Given the description of an element on the screen output the (x, y) to click on. 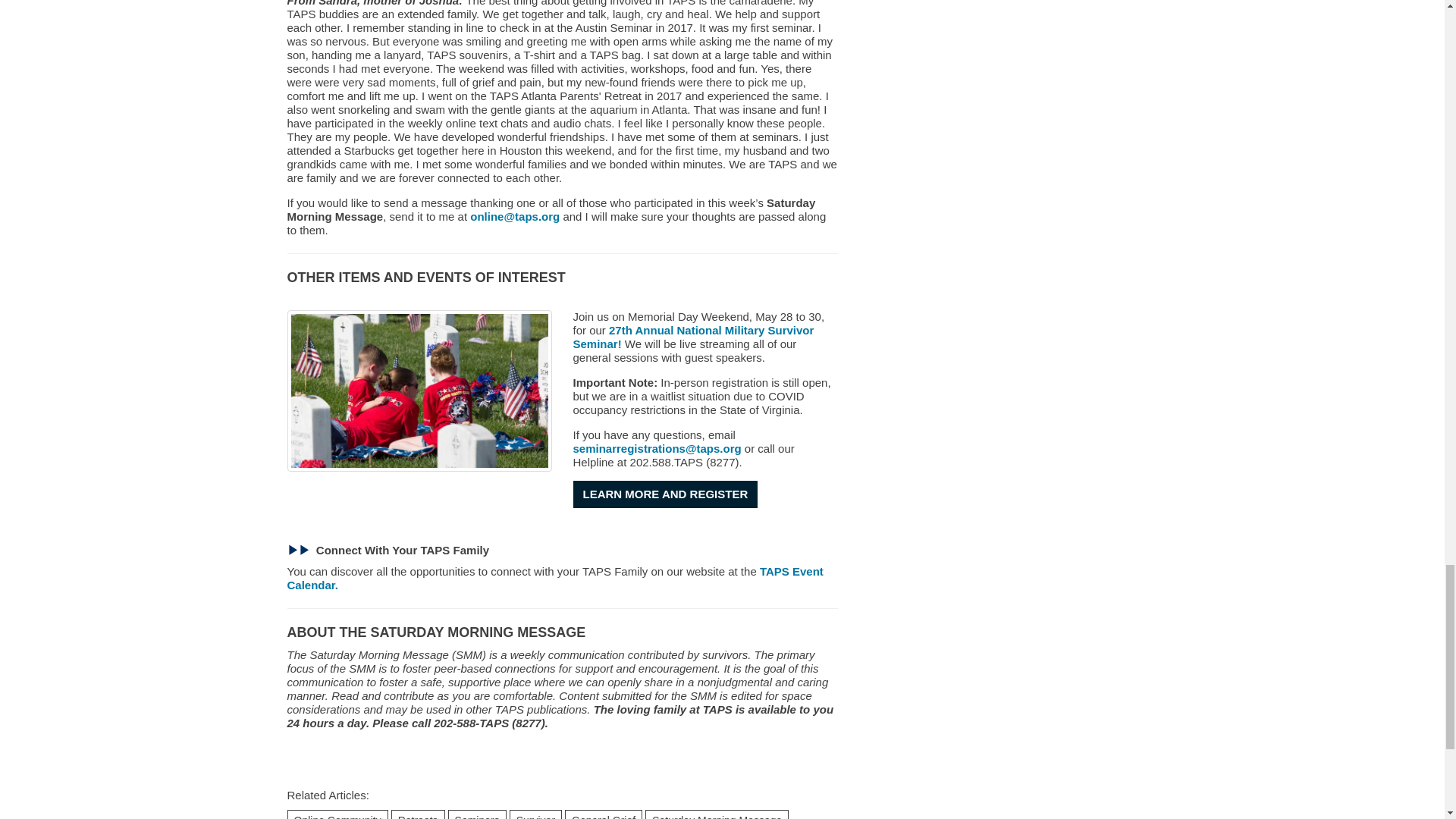
Saturday Morning Message (362, 667)
Arlington Cemetery family at headstone (418, 390)
